Given the description of an element on the screen output the (x, y) to click on. 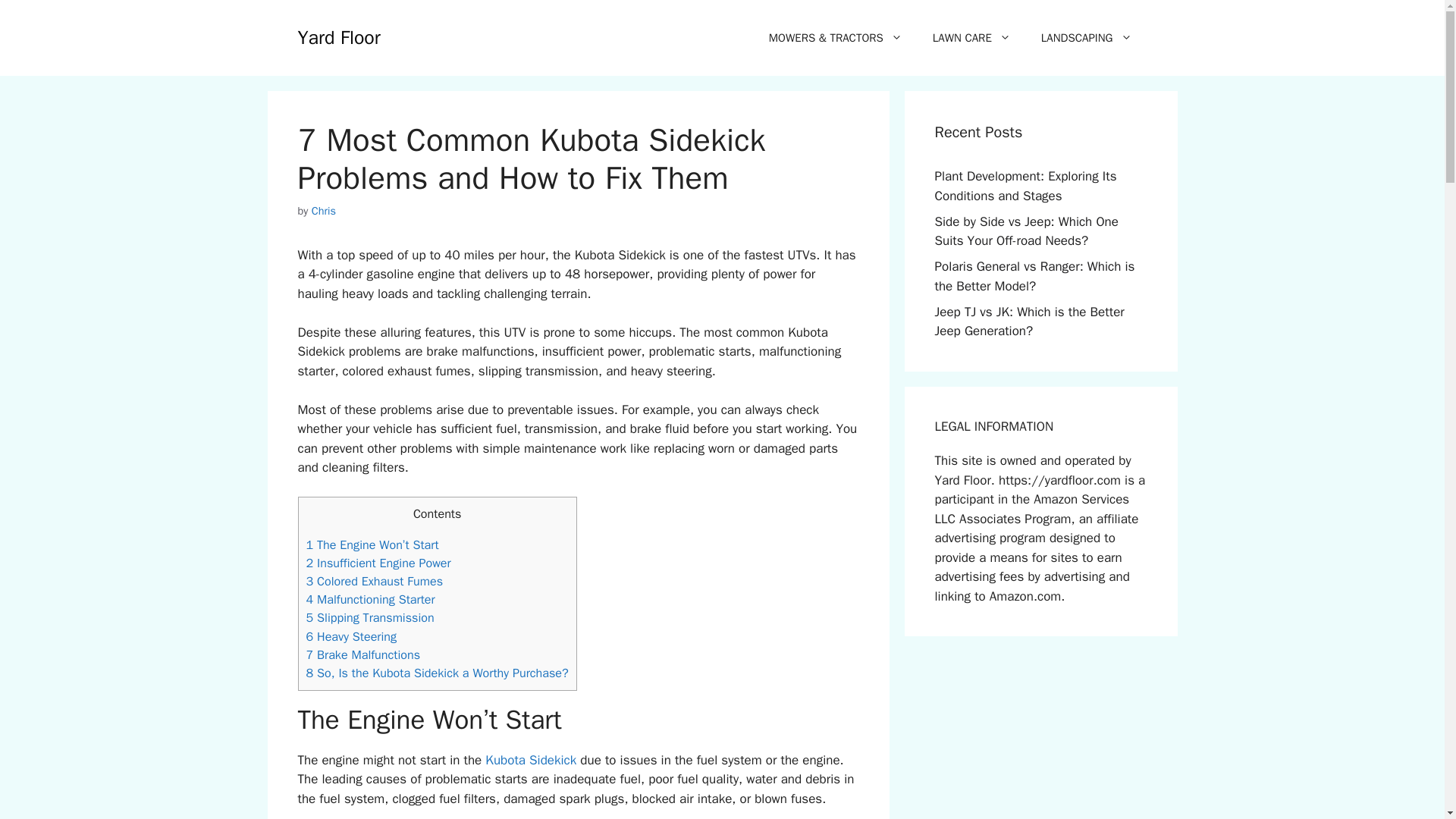
LANDSCAPING (1086, 37)
Yard Floor (338, 37)
Chris (323, 210)
6 Heavy Steering (351, 636)
2 Insufficient Engine Power (378, 562)
Kubota Sidekick (530, 760)
3 Colored Exhaust Fumes (374, 580)
7 Brake Malfunctions (362, 654)
4 Malfunctioning Starter (370, 599)
LAWN CARE (971, 37)
